Given the description of an element on the screen output the (x, y) to click on. 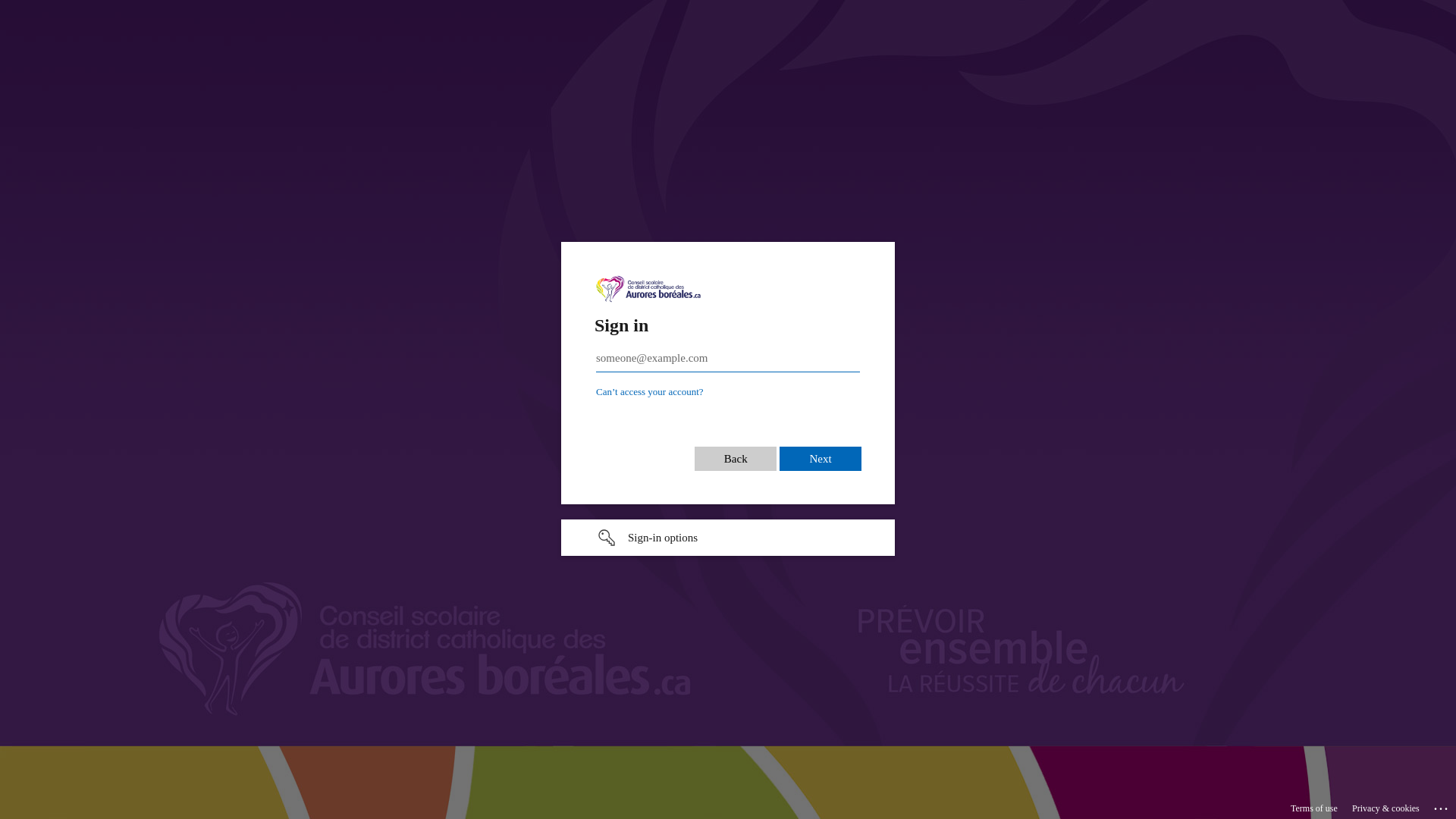
... Element type: text (1441, 805)
Next Element type: text (820, 449)
